Given the description of an element on the screen output the (x, y) to click on. 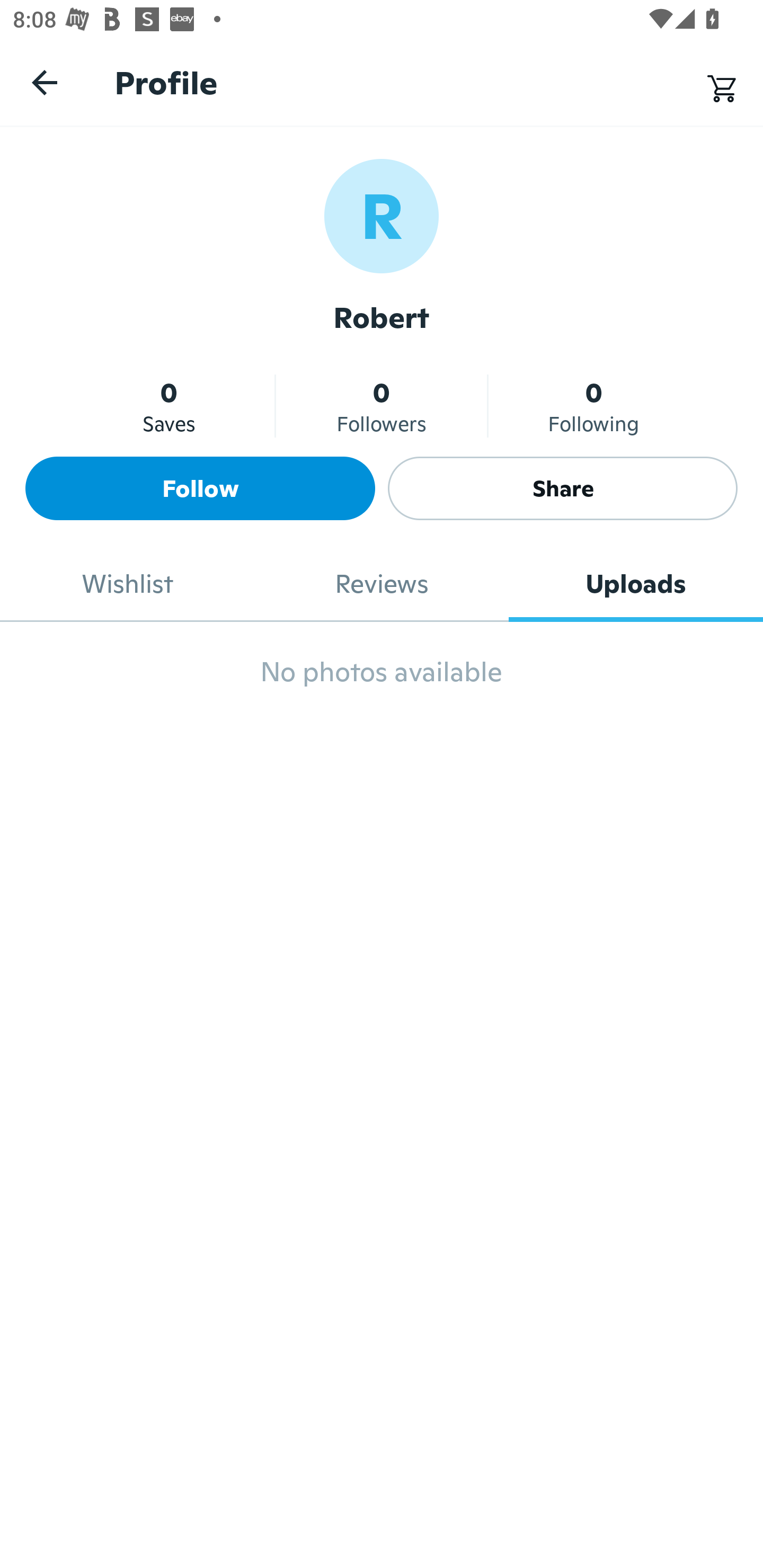
Navigate up (44, 82)
R (381, 215)
0 Followers (381, 405)
0 Following (593, 405)
Follow (200, 488)
Share (562, 488)
Wishlist (127, 583)
Reviews (381, 583)
Uploads (635, 583)
No photos available (381, 679)
